Given the description of an element on the screen output the (x, y) to click on. 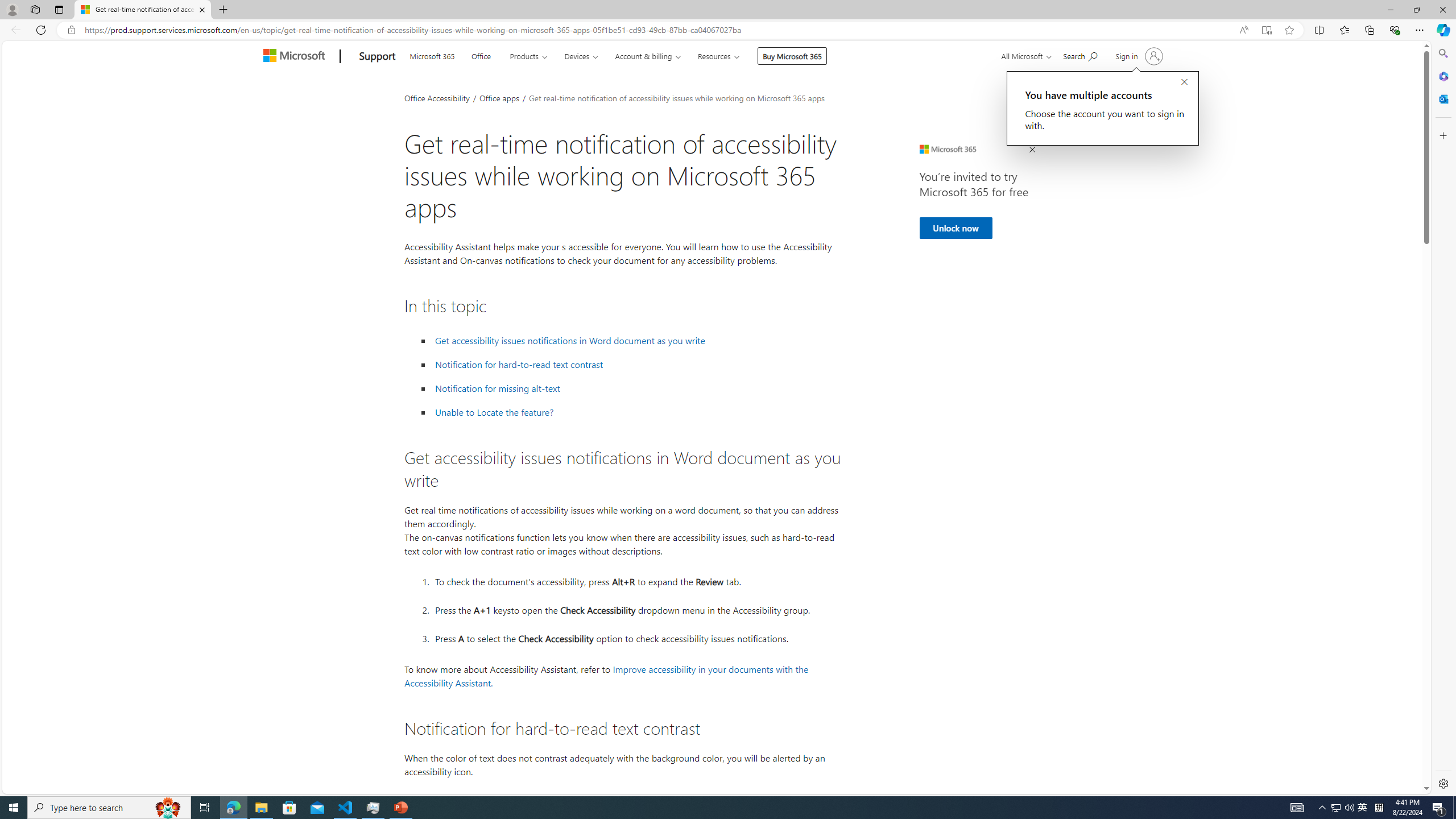
Personal Profile (12, 9)
Close Ad (1031, 149)
Notification for missing alt-text (635, 388)
Outlook (1442, 98)
Settings (1442, 783)
Settings and more (Alt+F) (1419, 29)
Address and search bar (658, 29)
Restore (1416, 9)
Unable to Locate the feature? (635, 412)
